Given the description of an element on the screen output the (x, y) to click on. 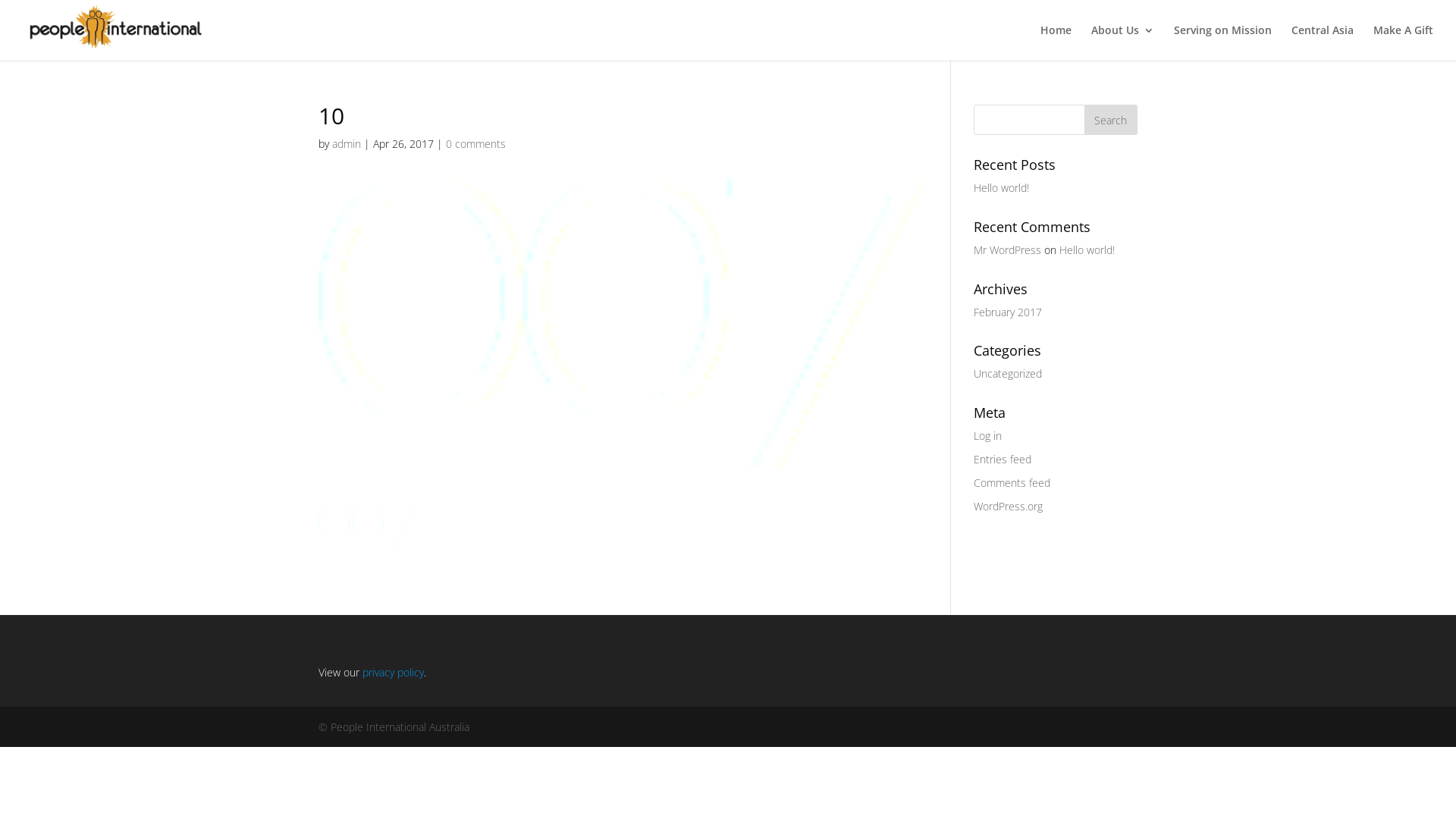
Mr WordPress Element type: text (1007, 249)
0 comments Element type: text (475, 143)
WordPress.org Element type: text (1007, 505)
Serving on Mission Element type: text (1222, 42)
privacy policy Element type: text (392, 672)
Log in Element type: text (987, 435)
Home Element type: text (1055, 42)
Search Element type: text (1110, 119)
February 2017 Element type: text (1007, 311)
Uncategorized Element type: text (1007, 373)
Central Asia Element type: text (1322, 42)
Hello world! Element type: text (1086, 249)
Hello world! Element type: text (1001, 187)
admin Element type: text (346, 143)
Comments feed Element type: text (1011, 482)
Entries feed Element type: text (1002, 458)
About Us Element type: text (1122, 42)
Make A Gift Element type: text (1403, 42)
